Given the description of an element on the screen output the (x, y) to click on. 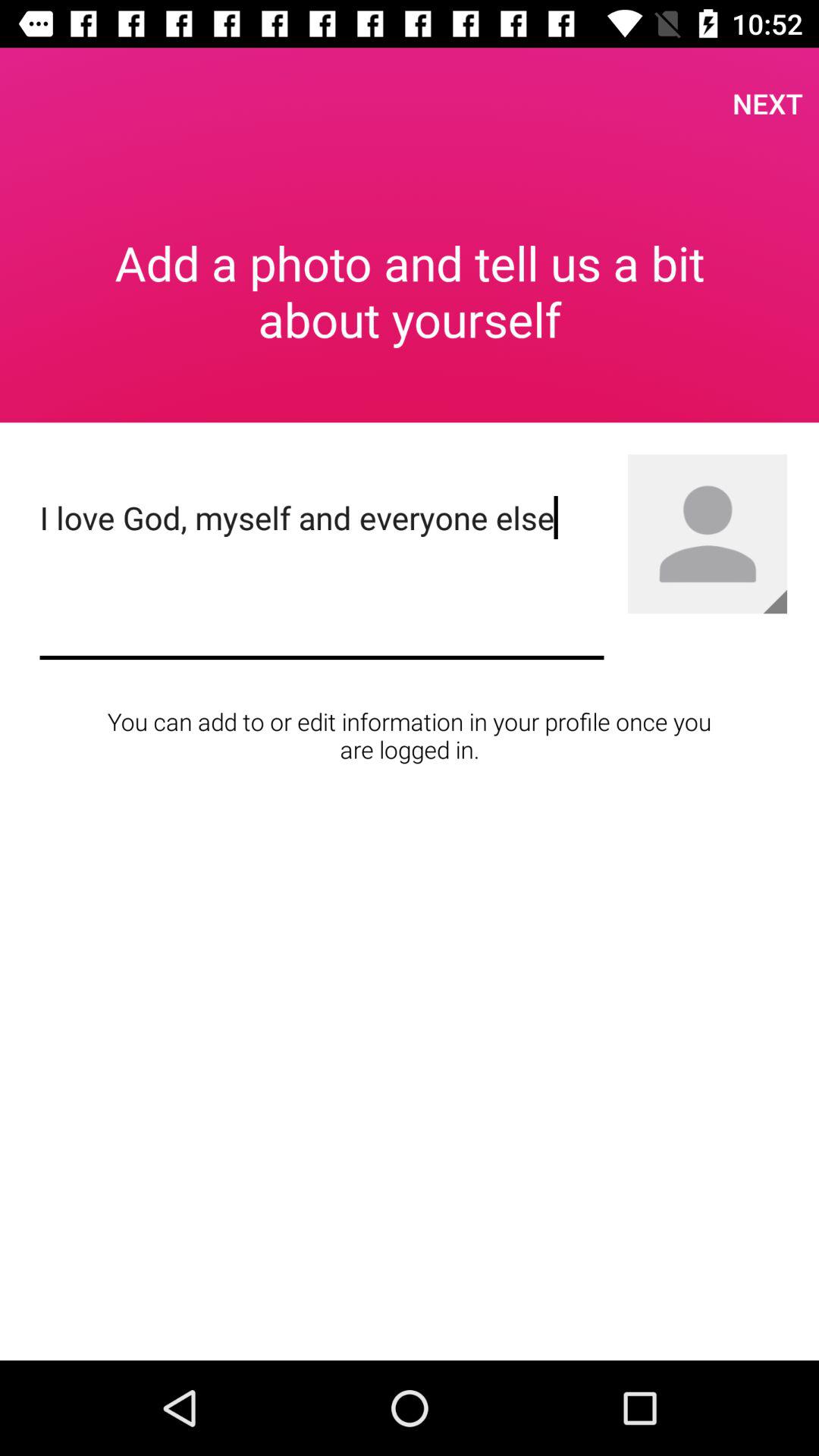
launch item below the add a photo item (321, 574)
